Given the description of an element on the screen output the (x, y) to click on. 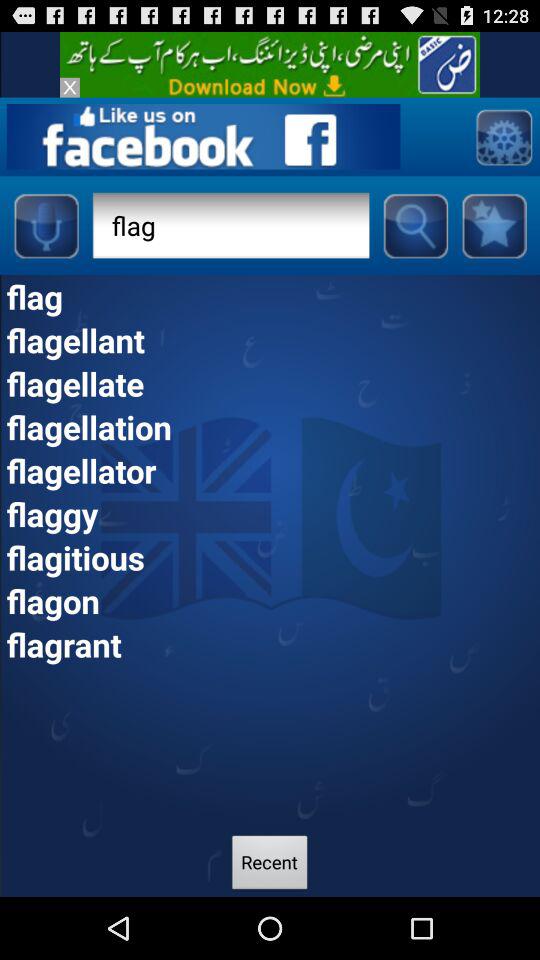
show favorites (493, 225)
